Given the description of an element on the screen output the (x, y) to click on. 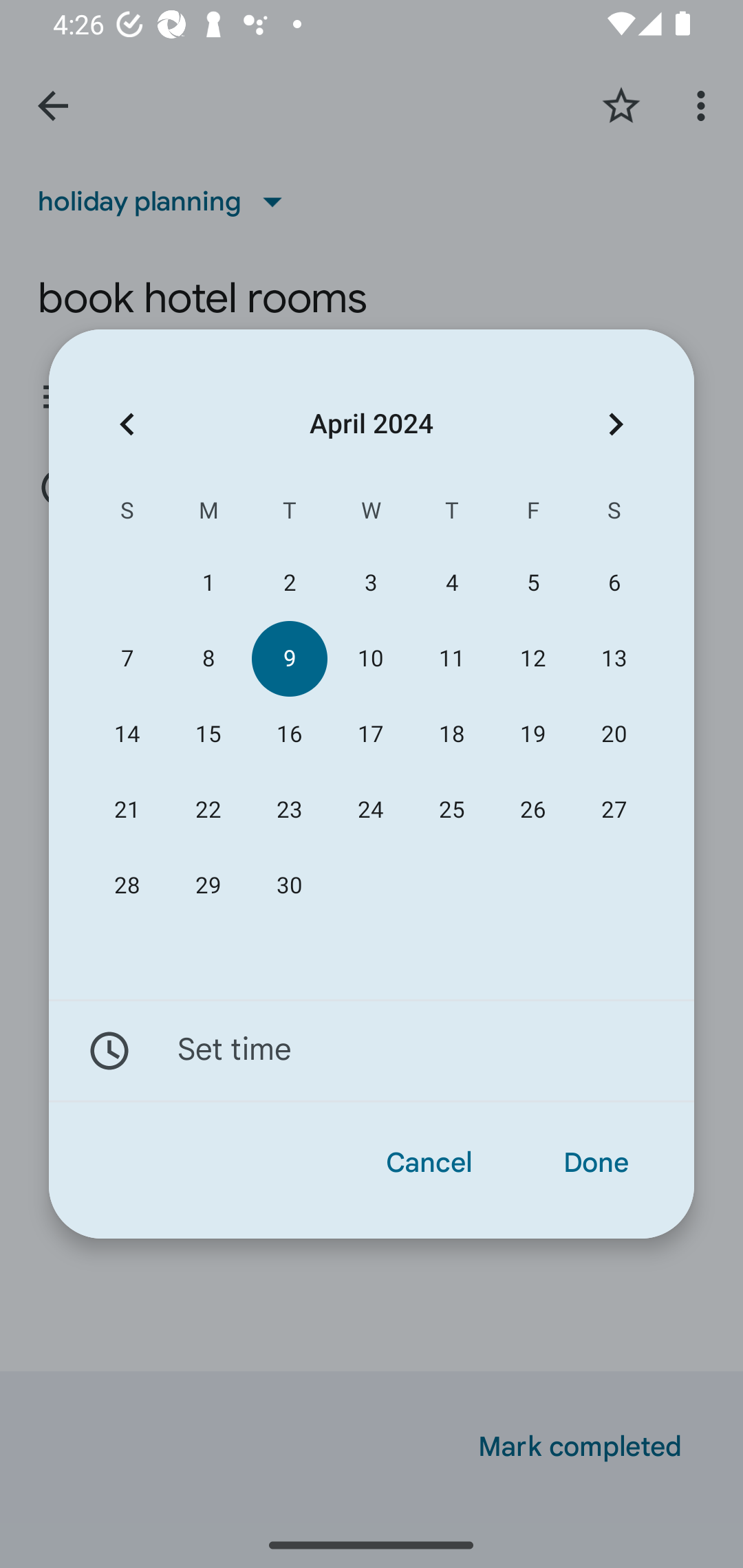
Previous month (126, 424)
Next month (615, 424)
1 01 April 2024 (207, 582)
2 02 April 2024 (288, 582)
3 03 April 2024 (370, 582)
4 04 April 2024 (451, 582)
5 05 April 2024 (532, 582)
6 06 April 2024 (613, 582)
7 07 April 2024 (126, 658)
8 08 April 2024 (207, 658)
9 09 April 2024 (288, 658)
10 10 April 2024 (370, 658)
11 11 April 2024 (451, 658)
12 12 April 2024 (532, 658)
13 13 April 2024 (613, 658)
14 14 April 2024 (126, 734)
15 15 April 2024 (207, 734)
16 16 April 2024 (288, 734)
17 17 April 2024 (370, 734)
18 18 April 2024 (451, 734)
19 19 April 2024 (532, 734)
20 20 April 2024 (613, 734)
21 21 April 2024 (126, 810)
22 22 April 2024 (207, 810)
23 23 April 2024 (288, 810)
24 24 April 2024 (370, 810)
25 25 April 2024 (451, 810)
26 26 April 2024 (532, 810)
27 27 April 2024 (613, 810)
28 28 April 2024 (126, 885)
29 29 April 2024 (207, 885)
30 30 April 2024 (288, 885)
Set time (371, 1050)
Cancel (429, 1162)
Done (595, 1162)
